Given the description of an element on the screen output the (x, y) to click on. 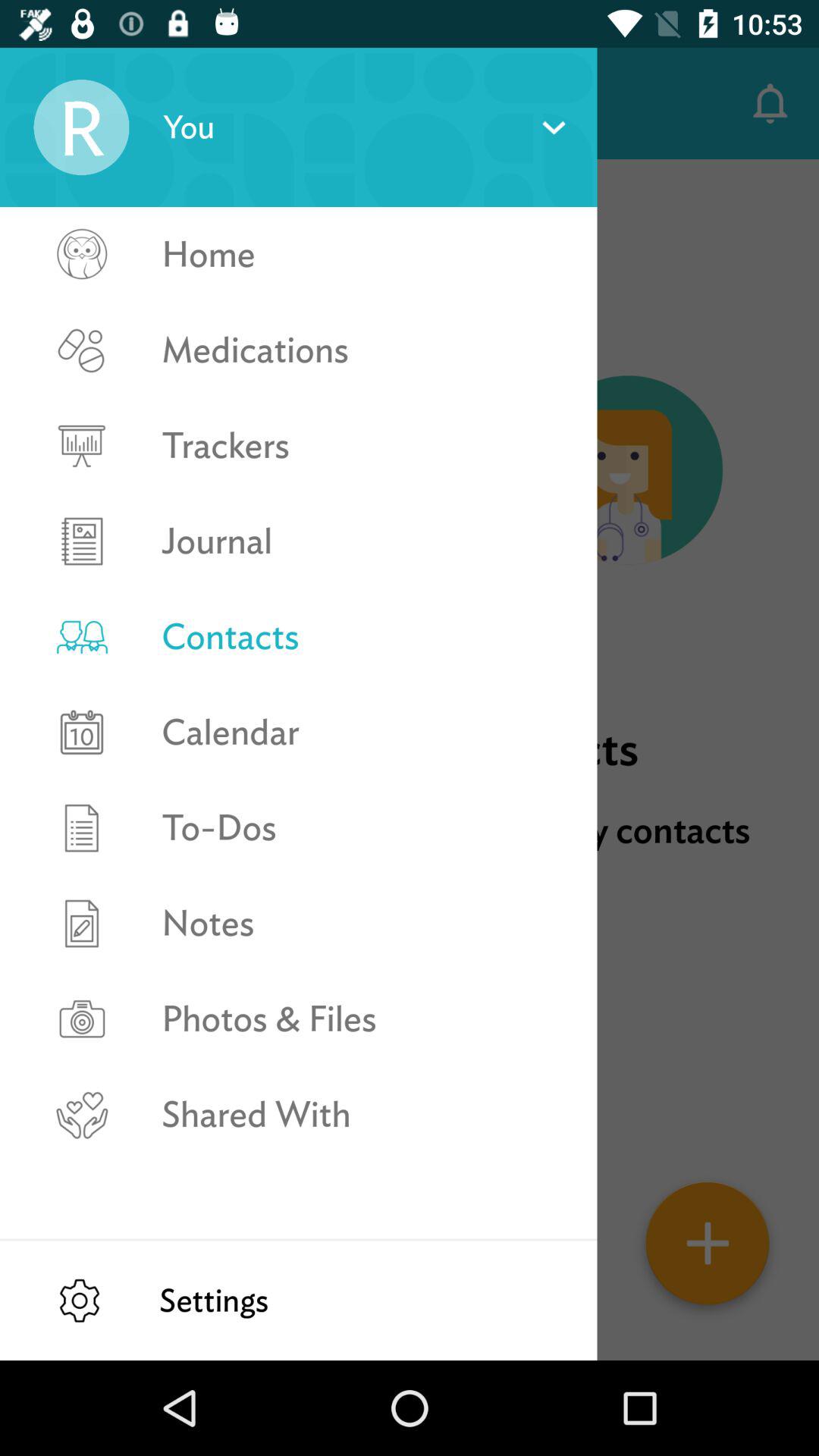
turn off to-dos (363, 827)
